Given the description of an element on the screen output the (x, y) to click on. 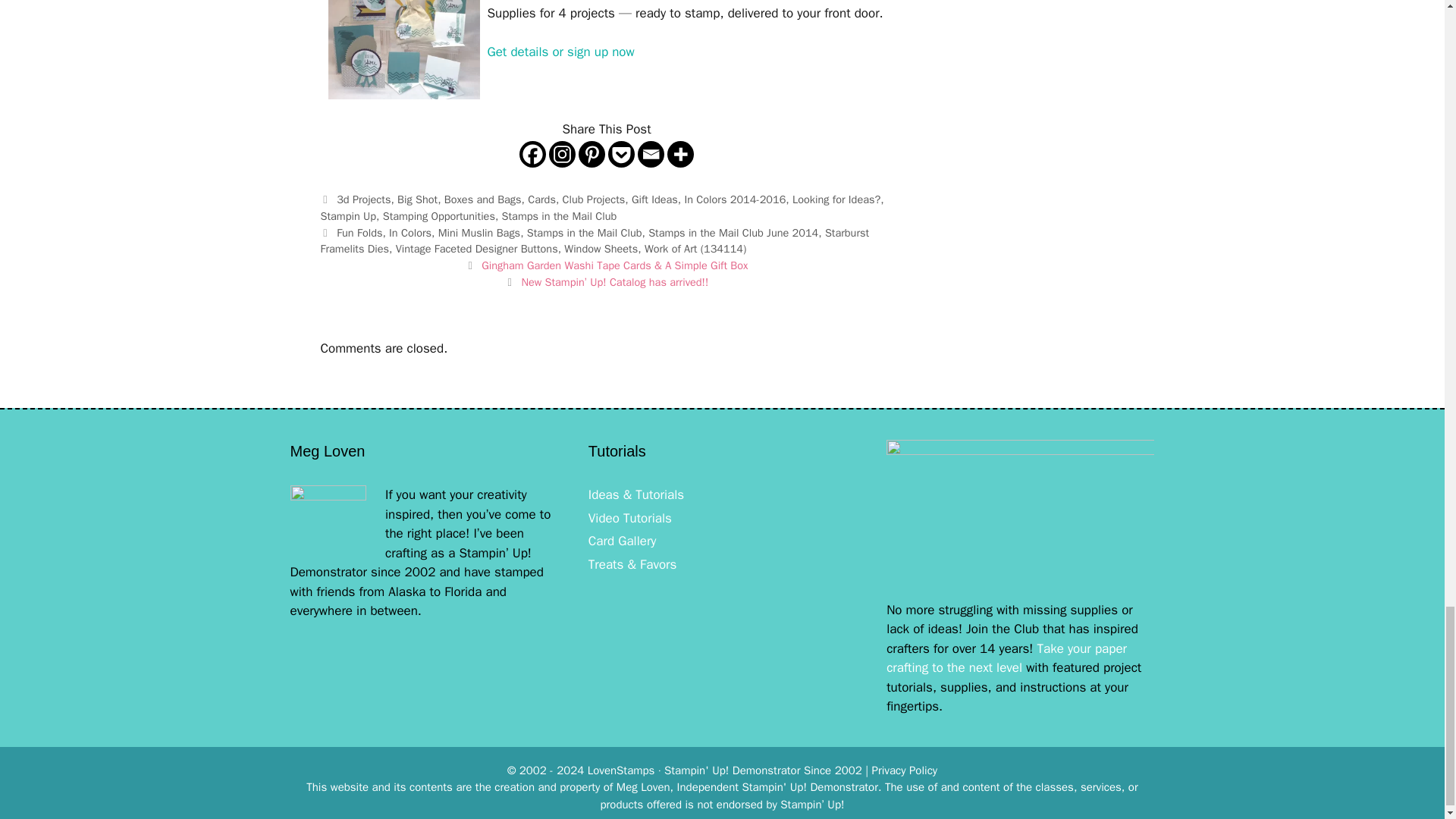
Get details or sign up now (559, 51)
